Given the description of an element on the screen output the (x, y) to click on. 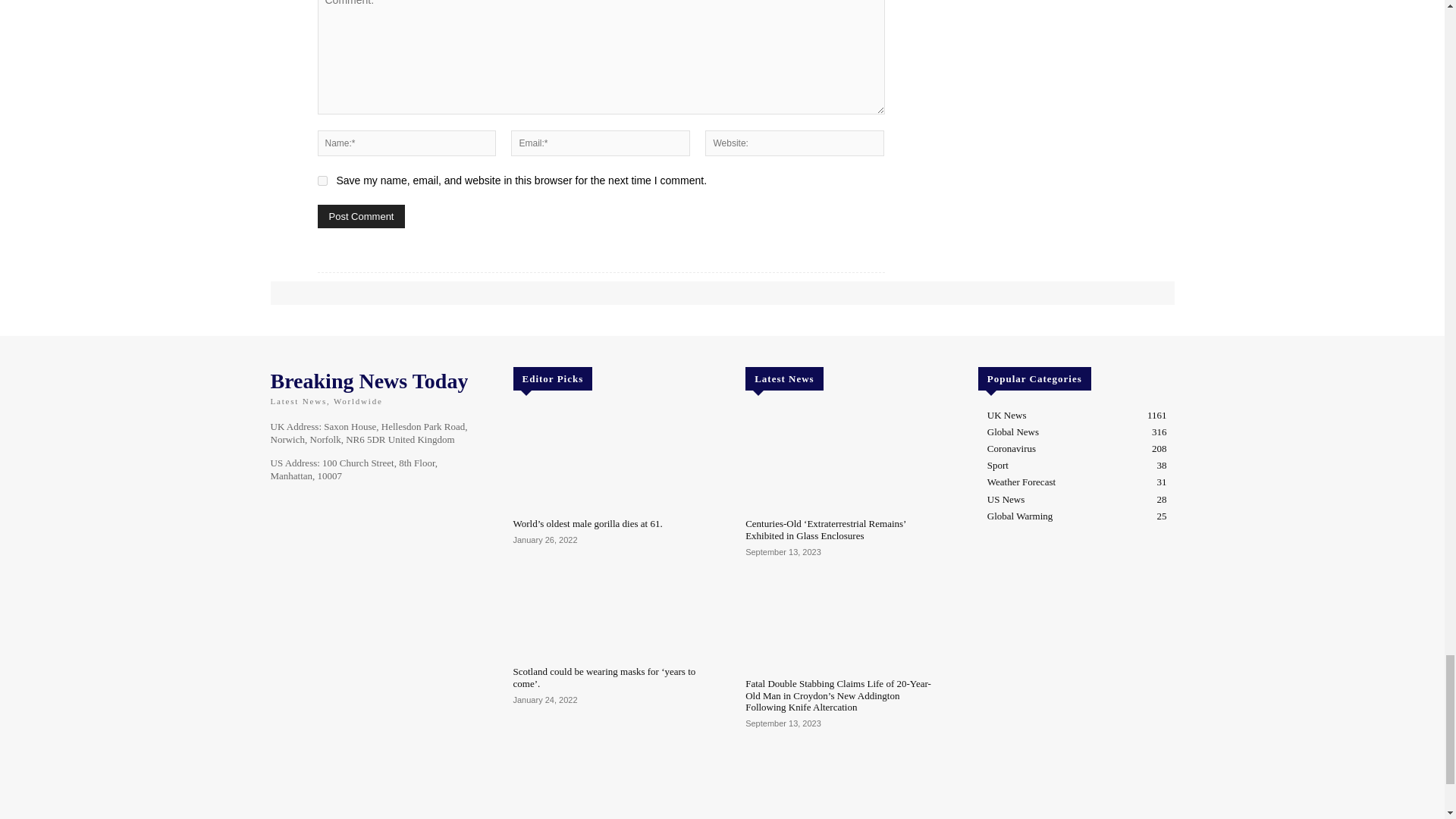
Post Comment (360, 216)
yes (321, 180)
